Given the description of an element on the screen output the (x, y) to click on. 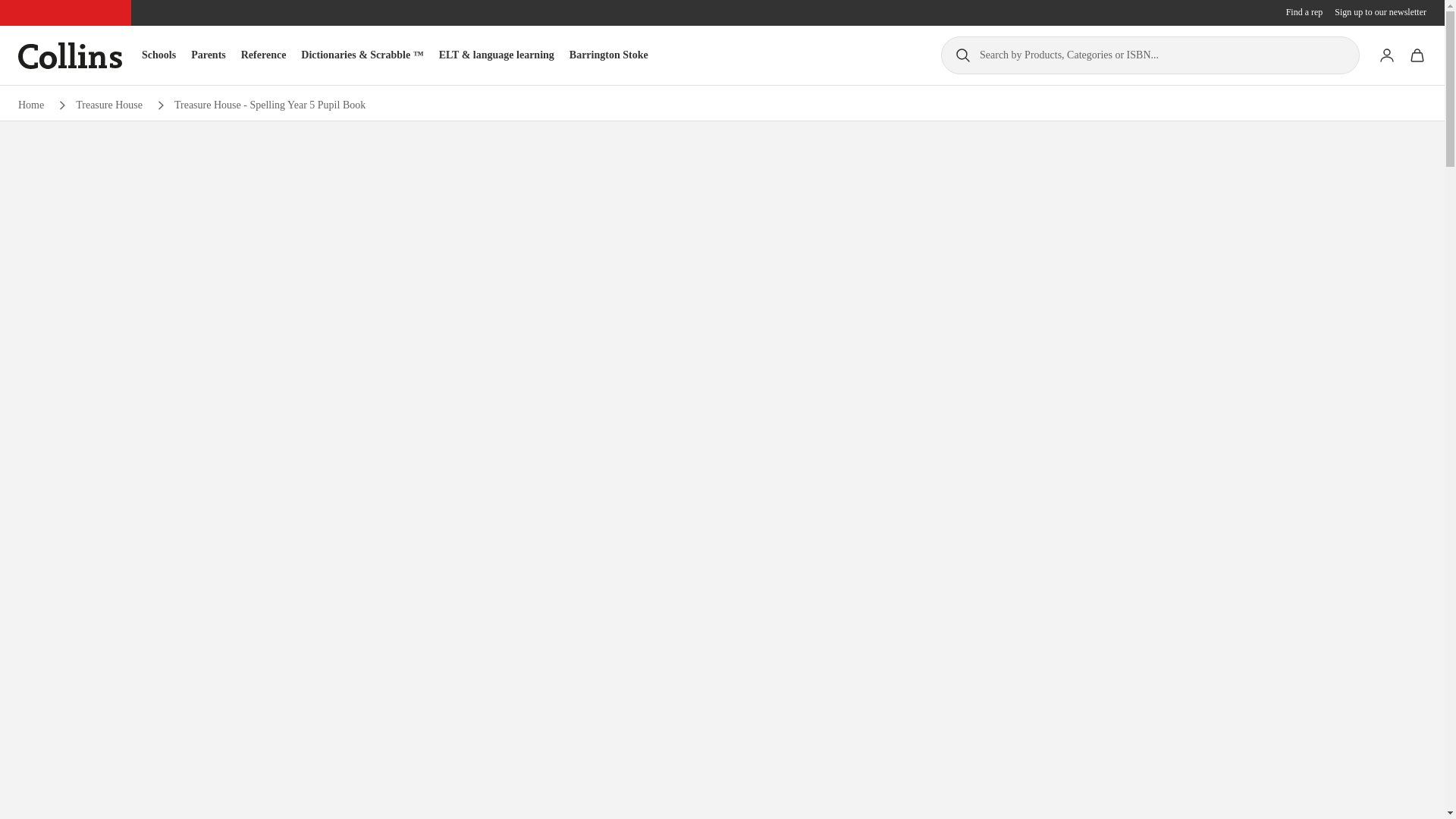
Collins (69, 55)
Barrington Stoke (608, 55)
Treasure House (108, 105)
Sign up to our newsletter (1380, 11)
Account (1386, 55)
Parents (208, 55)
Schools (158, 55)
Find a rep (1304, 11)
Treasure House - Spelling Year 5 Pupil Book (269, 105)
Reference (264, 55)
Home (30, 105)
Toggle cart (1417, 55)
Read all about Treasure House (108, 105)
